Given the description of an element on the screen output the (x, y) to click on. 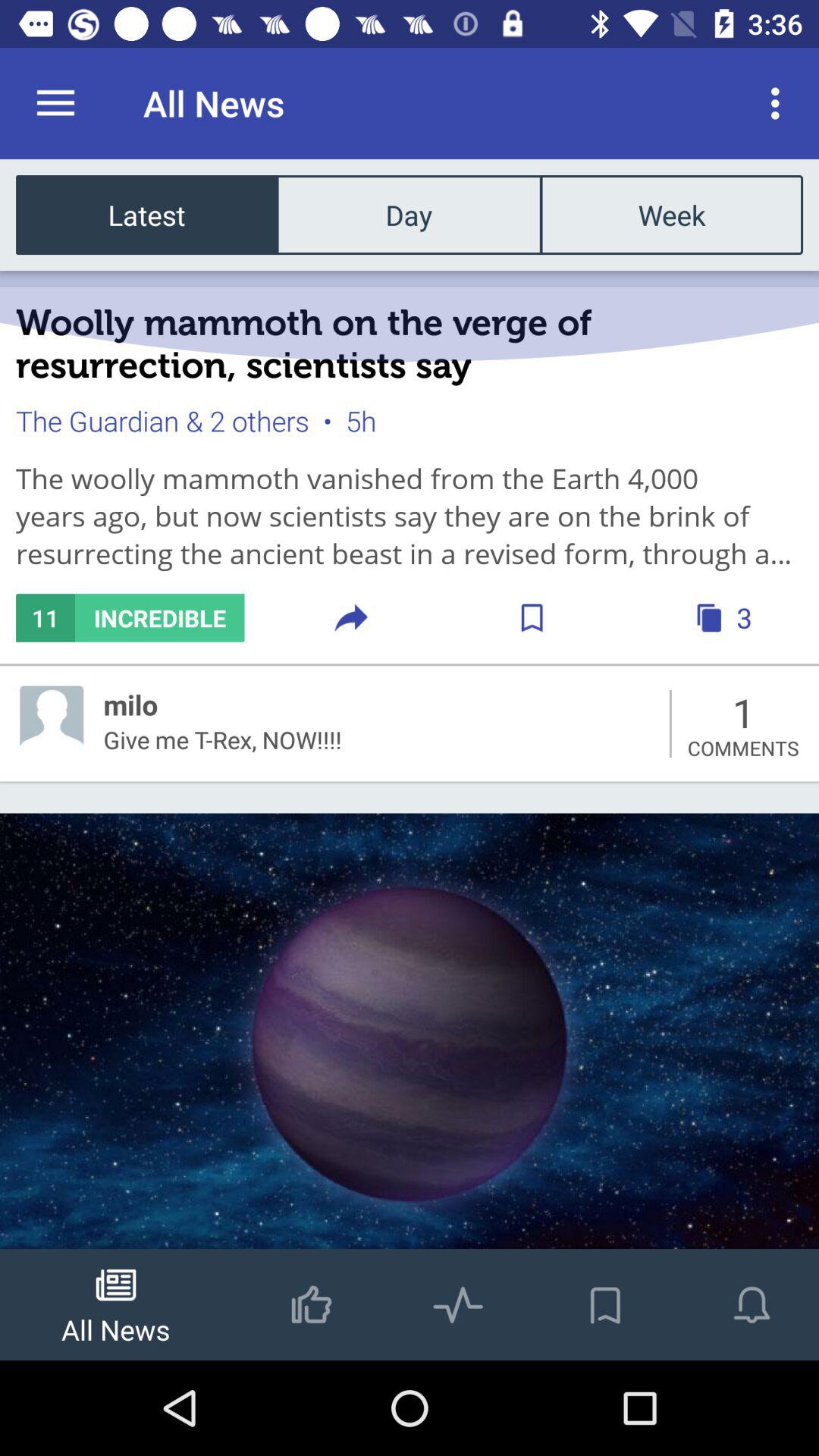
select the icon next to the all news item (55, 103)
